Given the description of an element on the screen output the (x, y) to click on. 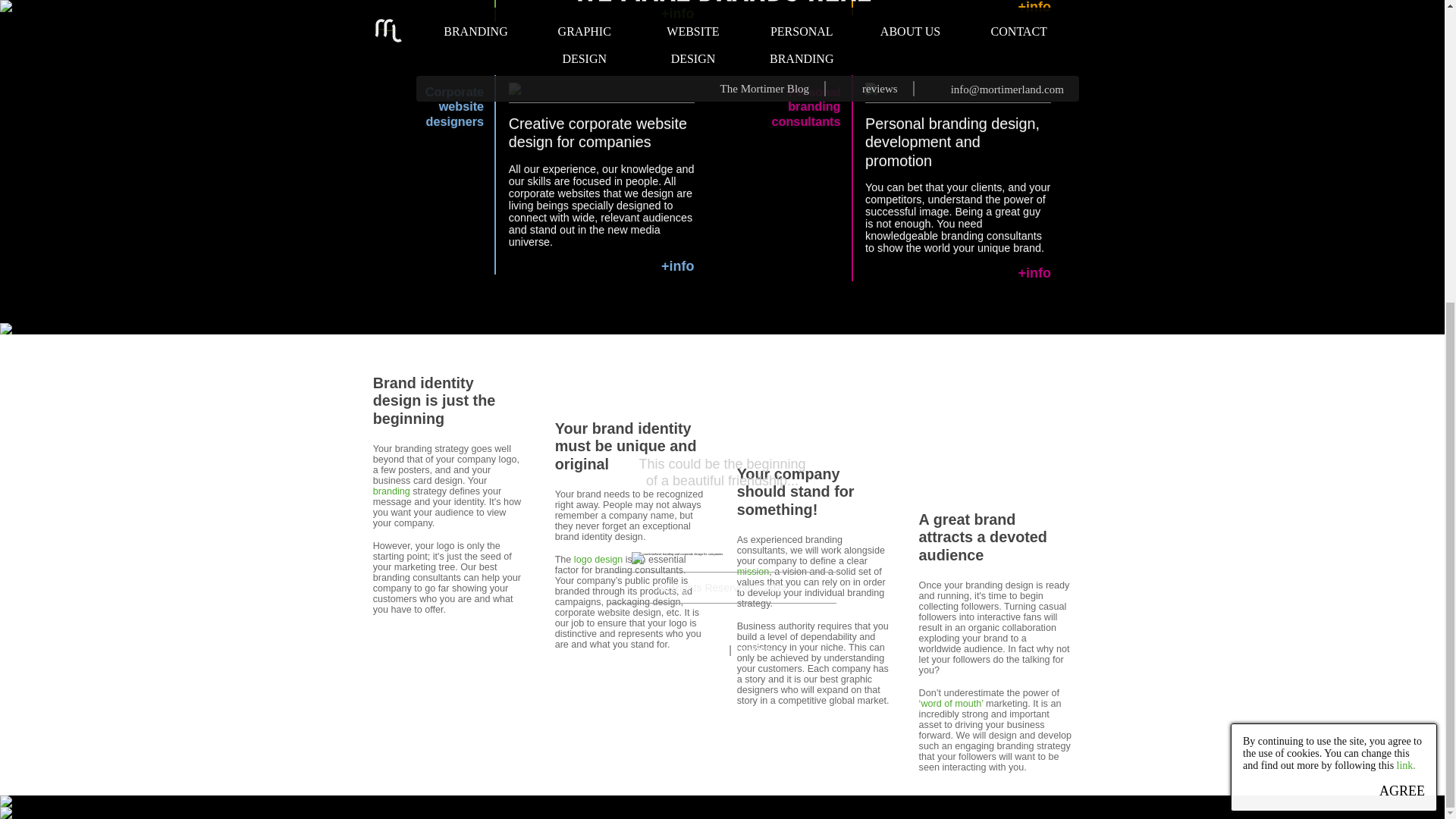
mission (753, 571)
logo design (806, 106)
Personal branding design, development and promotion (598, 559)
branding (951, 142)
cookies (391, 491)
naming and branding design agency (454, 106)
legal terms (752, 649)
link. (677, 13)
